Given the description of an element on the screen output the (x, y) to click on. 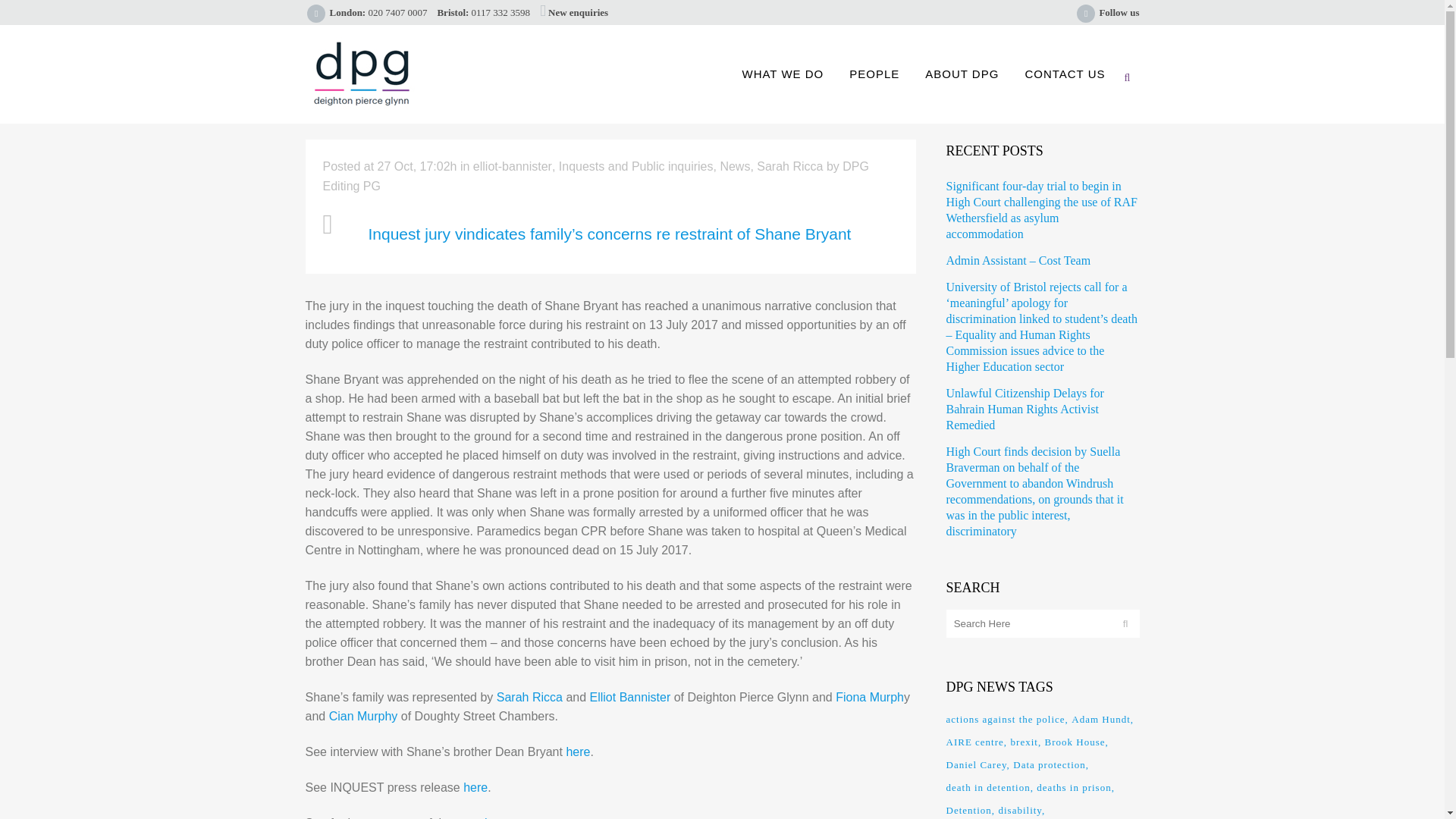
Follow us (1118, 12)
London: 020 7407 0007 (377, 12)
WHAT WE DO (782, 74)
Bristol: 0117 332 3598 (482, 12)
New enquiries (578, 12)
